Given the description of an element on the screen output the (x, y) to click on. 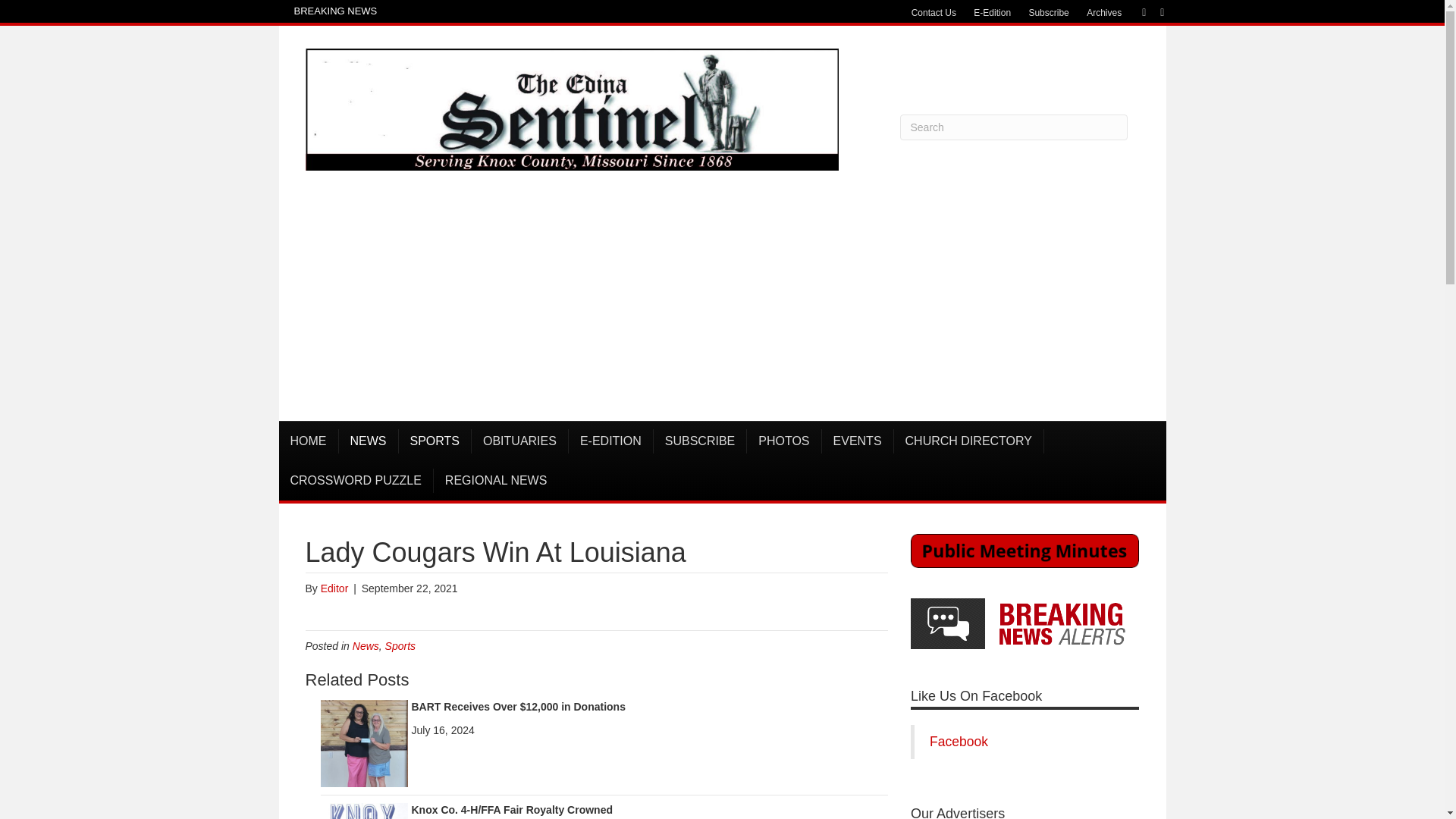
SPORTS (434, 441)
Type and press Enter to search. (1012, 127)
Subscribe (1047, 13)
Editor (334, 588)
OBITUARIES (520, 441)
SUBSCRIBE (699, 441)
HOME (309, 441)
E-Edition (991, 13)
REGIONAL NEWS (496, 480)
Contact Us (933, 13)
Archives (1103, 13)
Facebook (1135, 11)
CHURCH DIRECTORY (968, 441)
PHOTOS (783, 441)
